Given the description of an element on the screen output the (x, y) to click on. 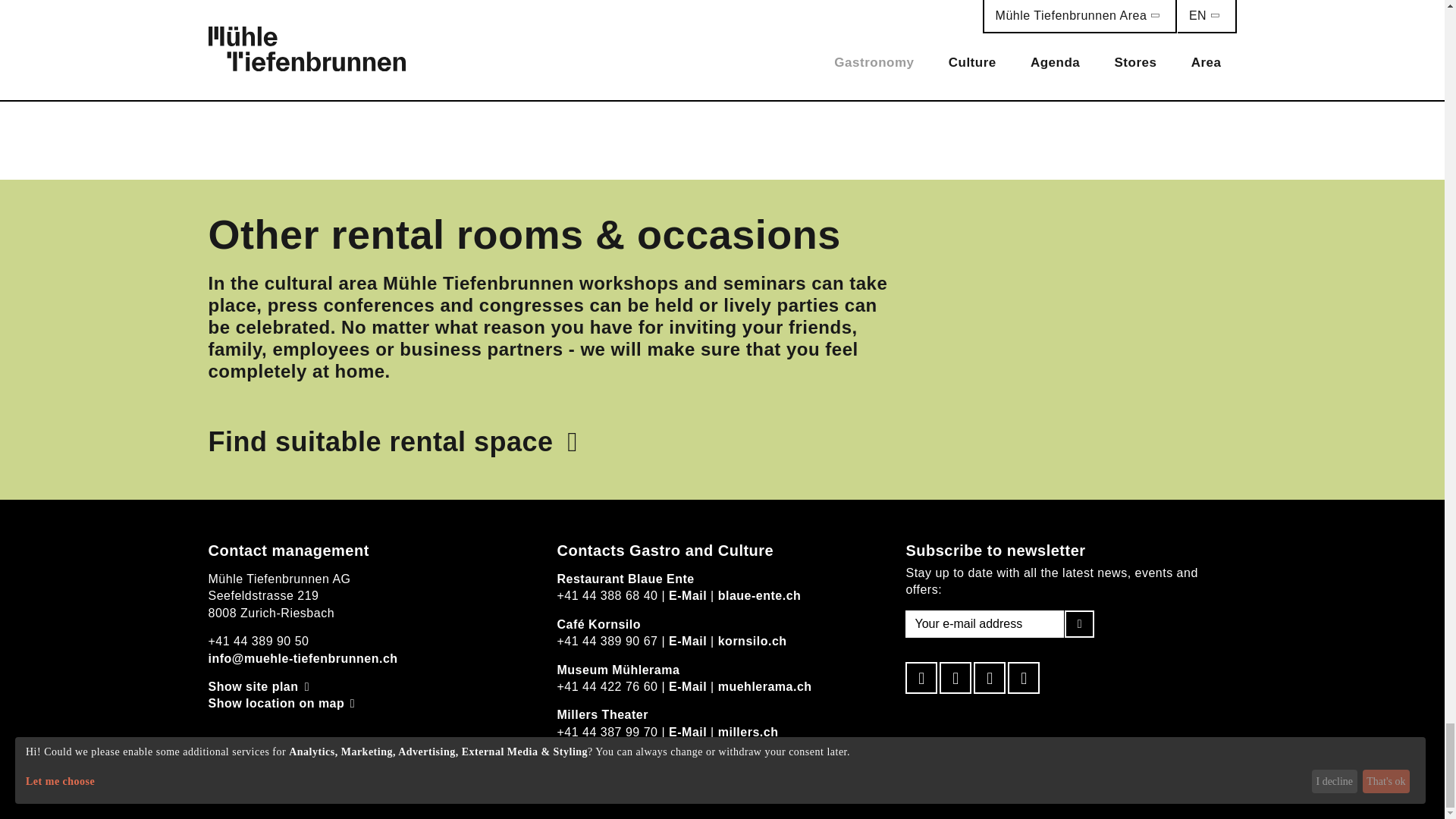
Privacy policy (500, 790)
Imprint (588, 790)
